Given the description of an element on the screen output the (x, y) to click on. 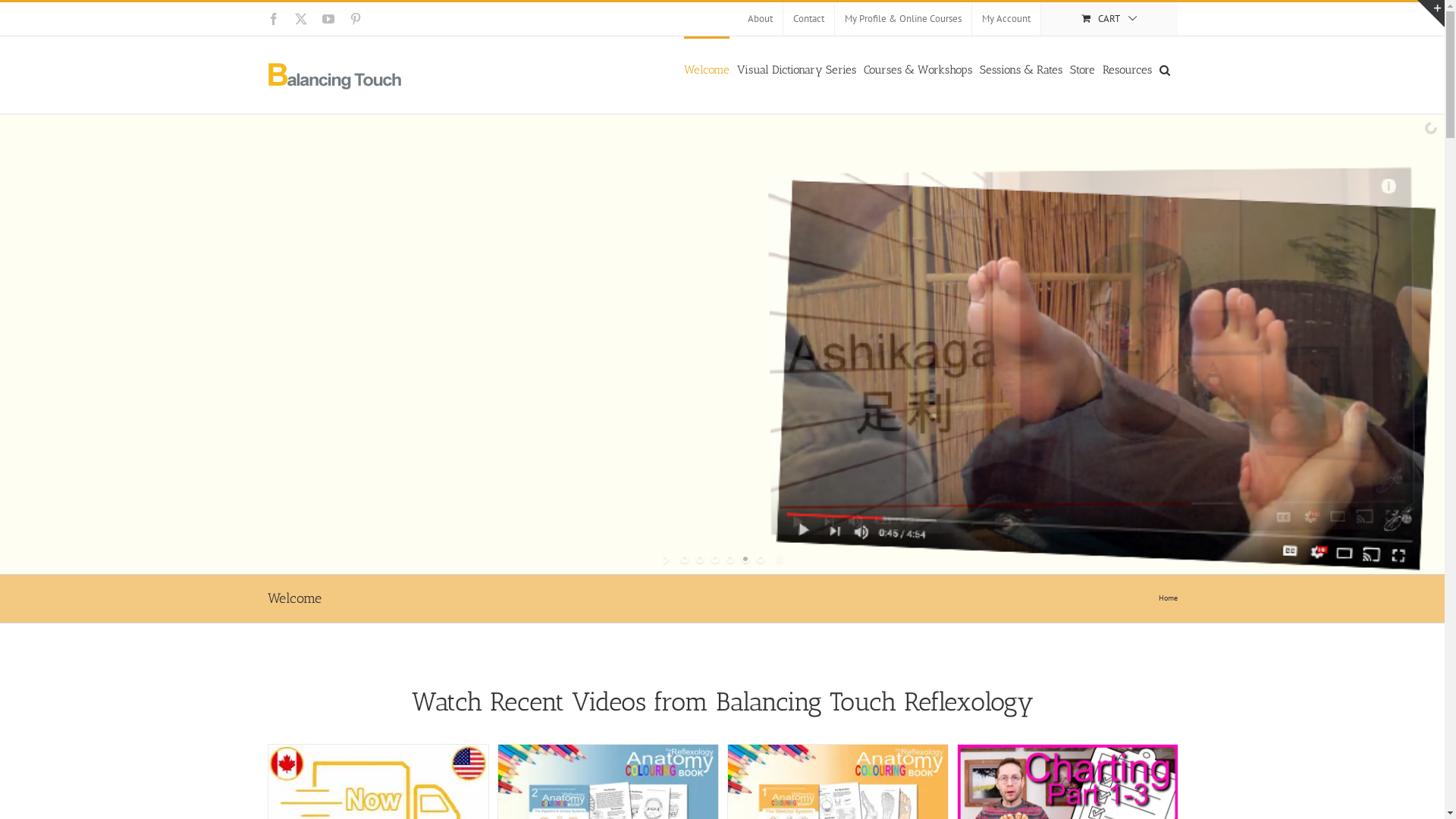
Welcome Element type: text (706, 68)
Visual Dictionary Series Element type: text (796, 68)
Home Element type: text (1167, 597)
Sessions & Rates Element type: text (1020, 68)
Toggle Sliding Bar Area Element type: text (1430, 13)
Log In Element type: text (1063, 146)
Facebook Element type: text (272, 18)
CART Element type: text (1108, 18)
Search Element type: hover (1163, 68)
My Account Element type: text (1006, 18)
Courses & Workshops Element type: text (916, 68)
Contact Element type: text (807, 18)
Store Element type: text (1081, 68)
My Profile & Online Courses Element type: text (902, 18)
Resources Element type: text (1126, 68)
Twitter Element type: text (300, 18)
Pinterest Element type: text (354, 18)
YouTube Element type: text (327, 18)
About Element type: text (759, 18)
